Given the description of an element on the screen output the (x, y) to click on. 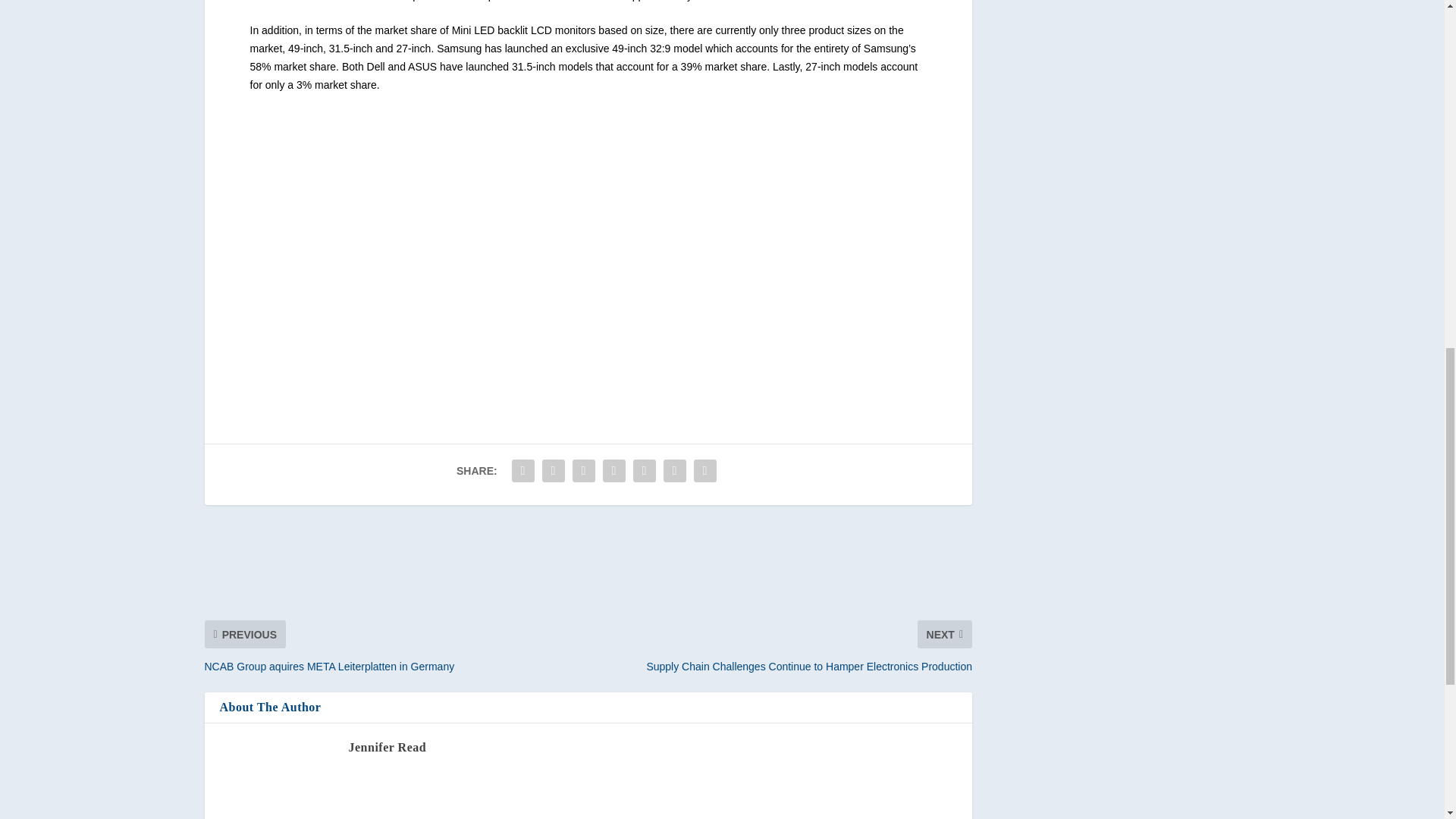
View all posts by Jennifer Read (387, 747)
Jennifer Read (387, 747)
